Given the description of an element on the screen output the (x, y) to click on. 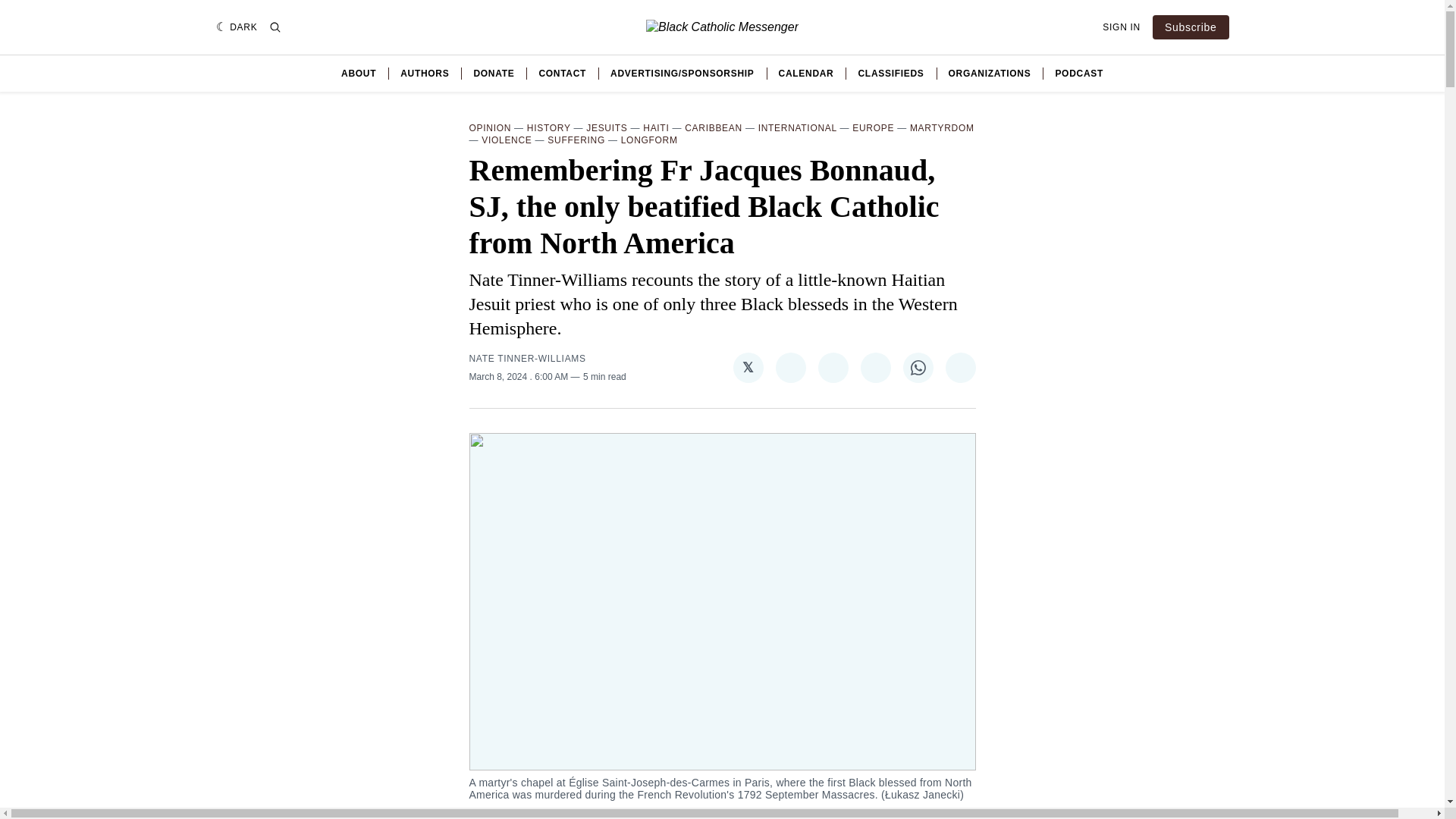
SUFFERING (576, 140)
Share via Email (959, 367)
Share on WhatsApp (917, 367)
HISTORY (548, 127)
DARK (236, 27)
AUTHORS (424, 73)
JESUITS (606, 127)
MARTYRDOM (942, 127)
Share on LinkedIn (874, 367)
EUROPE (872, 127)
